Given the description of an element on the screen output the (x, y) to click on. 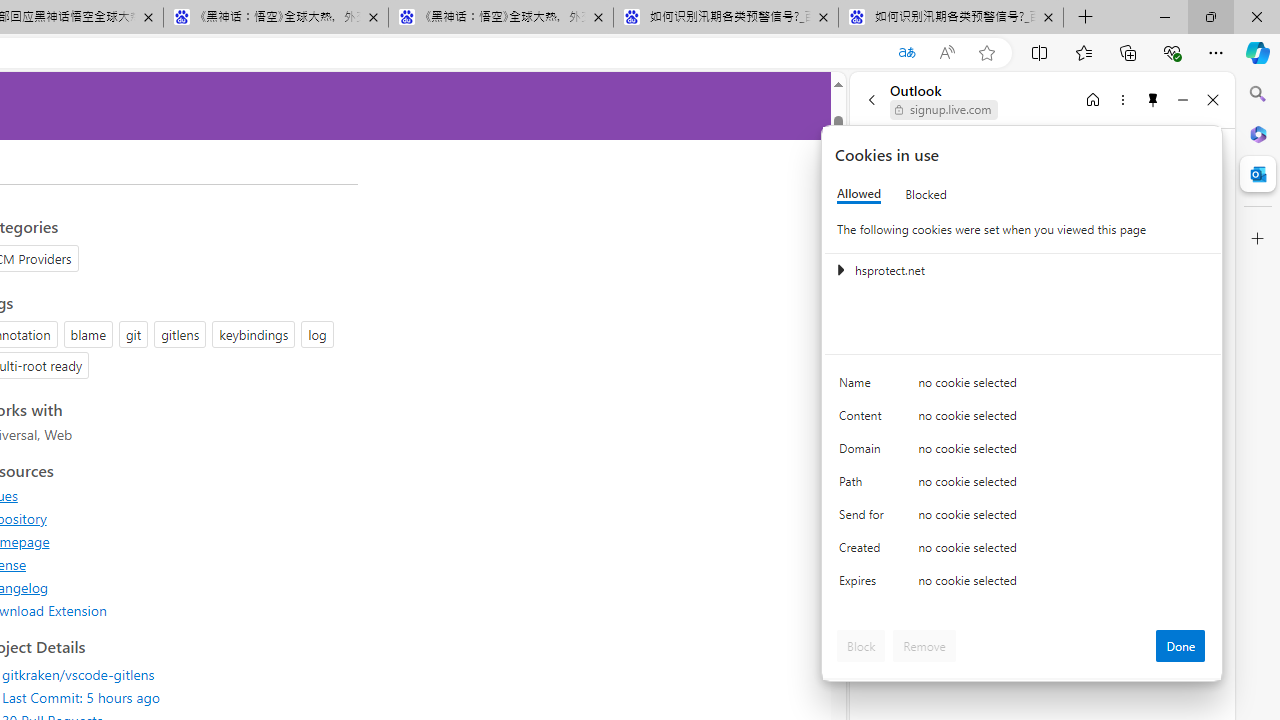
Class: c0153 c0157 c0154 (1023, 386)
Blocked (925, 193)
Allowed (859, 193)
Content (864, 420)
Domain (864, 452)
Block (861, 645)
no cookie selected (1062, 585)
